Given the description of an element on the screen output the (x, y) to click on. 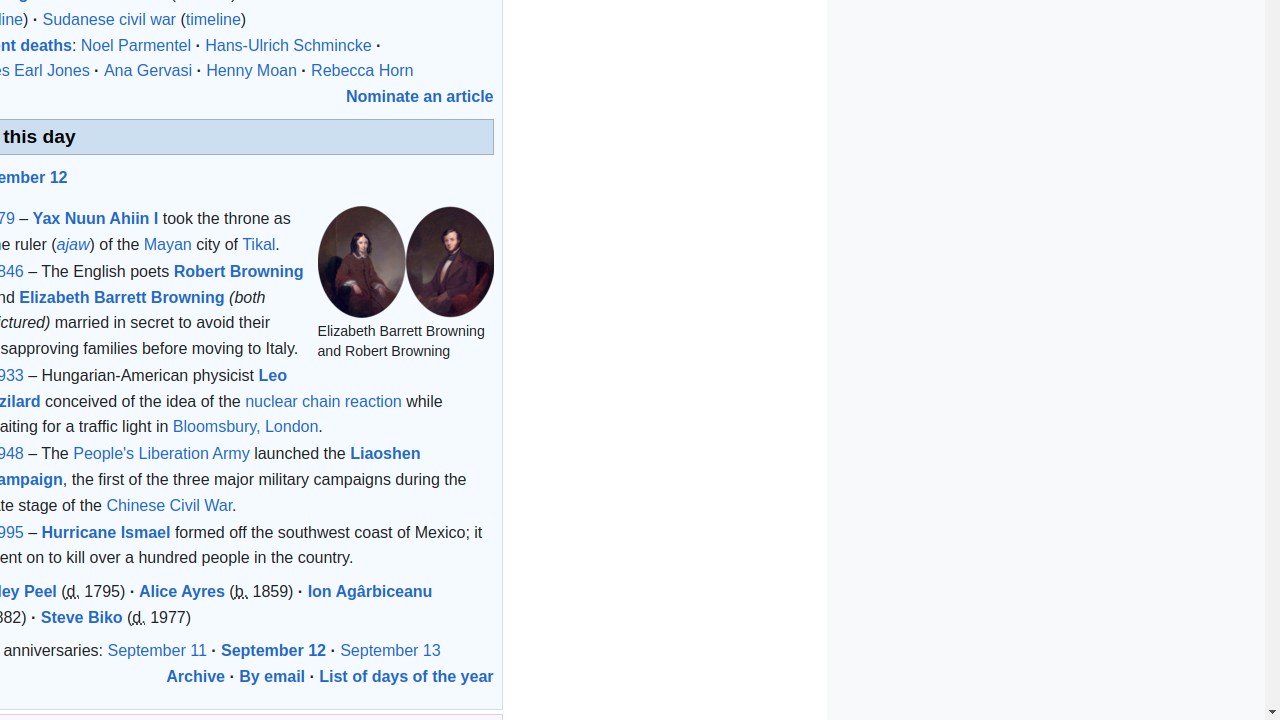
Elizabeth Barrett Browning and Robert Browning Element type: link (405, 262)
Alice Ayres Element type: link (181, 591)
Noel Parmentel Element type: link (136, 45)
Chinese Civil War Element type: link (169, 505)
List of days of the year Element type: link (406, 676)
